Given the description of an element on the screen output the (x, y) to click on. 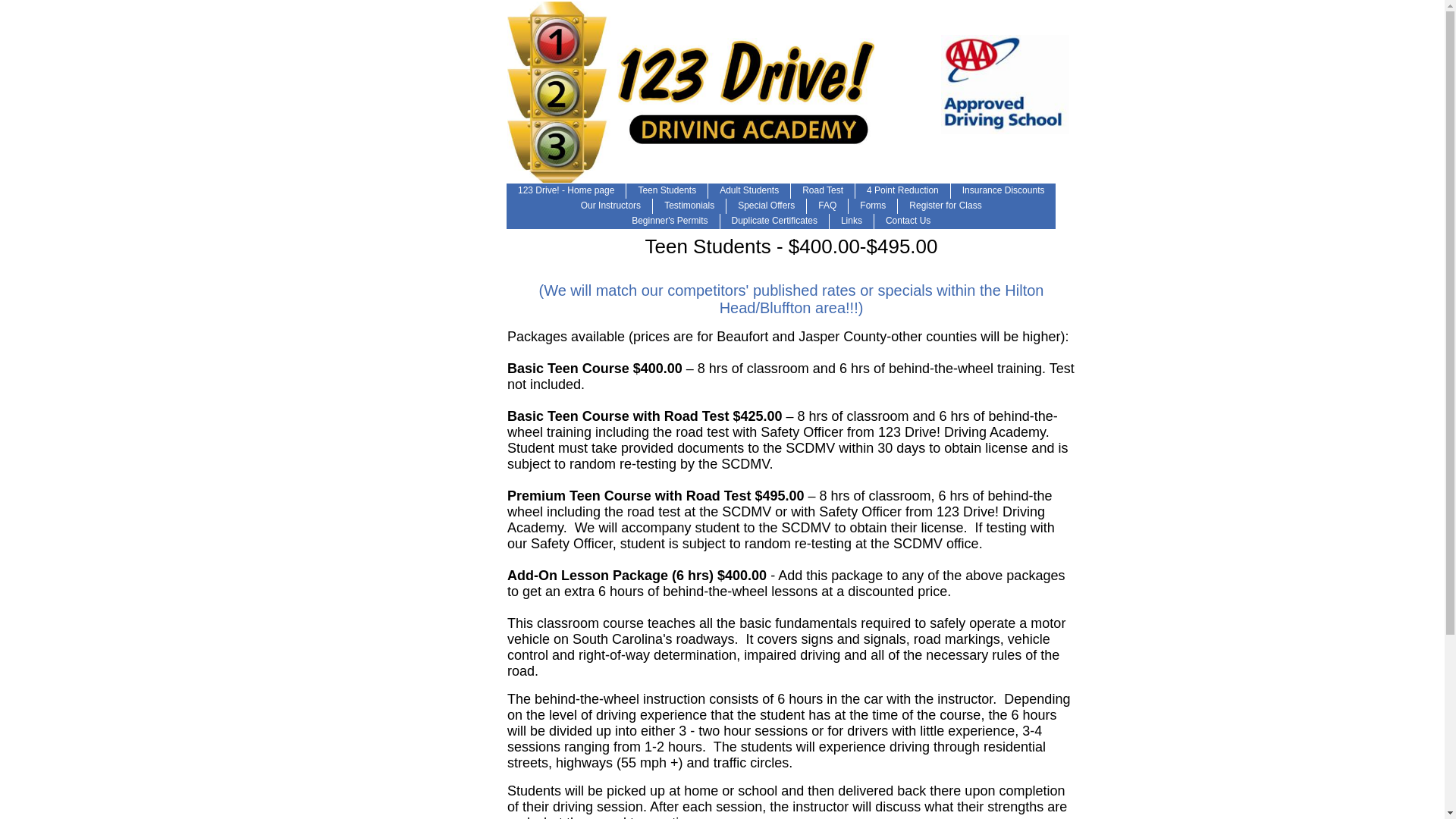
Insurance Discounts Element type: text (1003, 190)
Register for Class Element type: text (944, 205)
Our Instructors Element type: text (610, 205)
Teen Students Element type: text (666, 190)
123 Drive! - Home page Element type: text (565, 190)
Special Offers Element type: text (766, 205)
Duplicate Certificates Element type: text (774, 221)
Forms Element type: text (872, 205)
Road Test Element type: text (822, 190)
Links Element type: text (851, 221)
Testimonials Element type: text (688, 205)
4 Point Reduction Element type: text (902, 190)
Beginner's Permits Element type: text (669, 221)
Adult Students Element type: text (749, 190)
FAQ Element type: text (826, 205)
Contact Us Element type: text (907, 221)
